Given the description of an element on the screen output the (x, y) to click on. 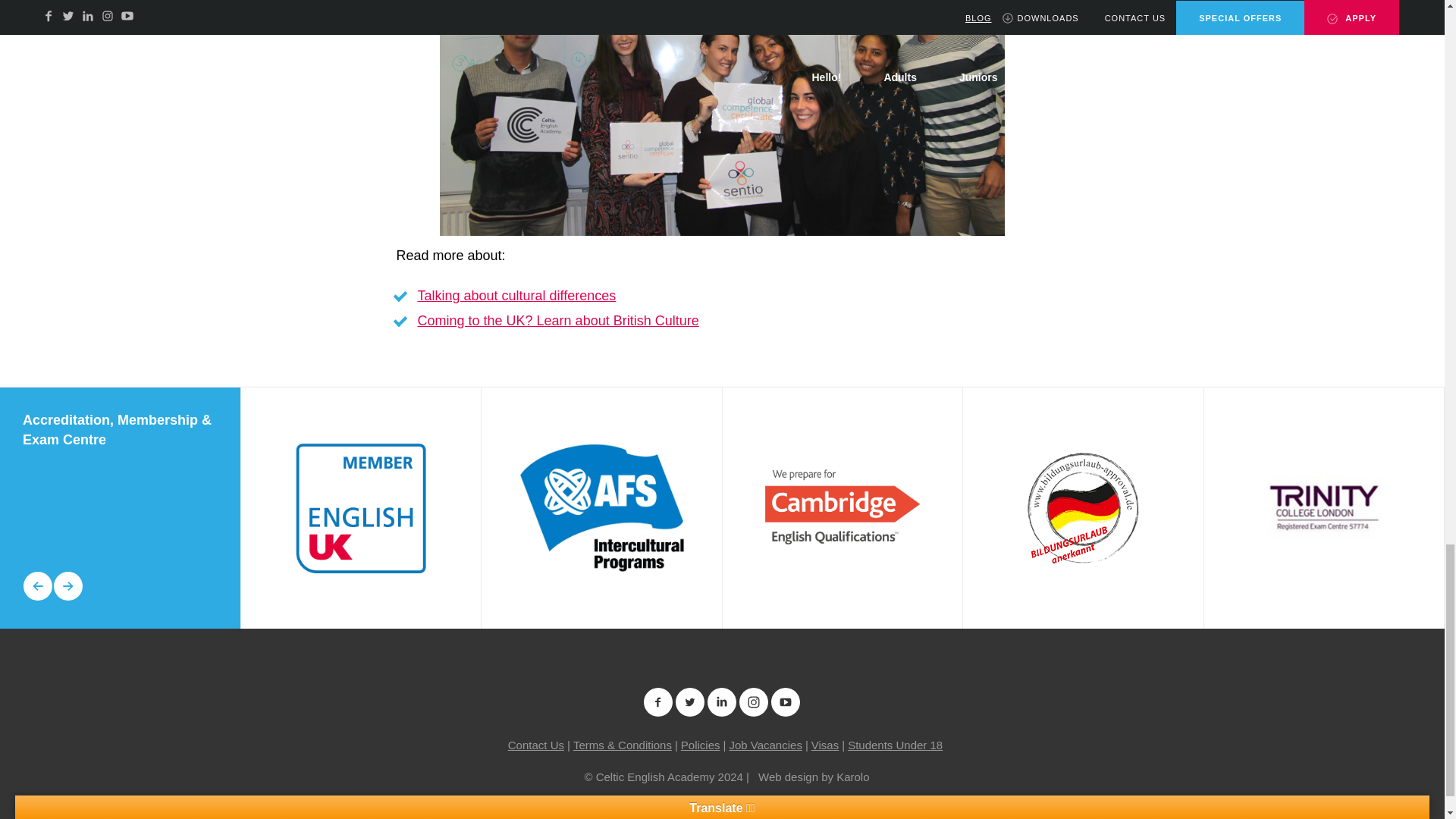
Find us on Twitter (689, 702)
Find us on Facebook (657, 702)
Find us on Instagram (753, 702)
Find us on LinkedIn (721, 702)
Find us on YouTube (785, 702)
